Given the description of an element on the screen output the (x, y) to click on. 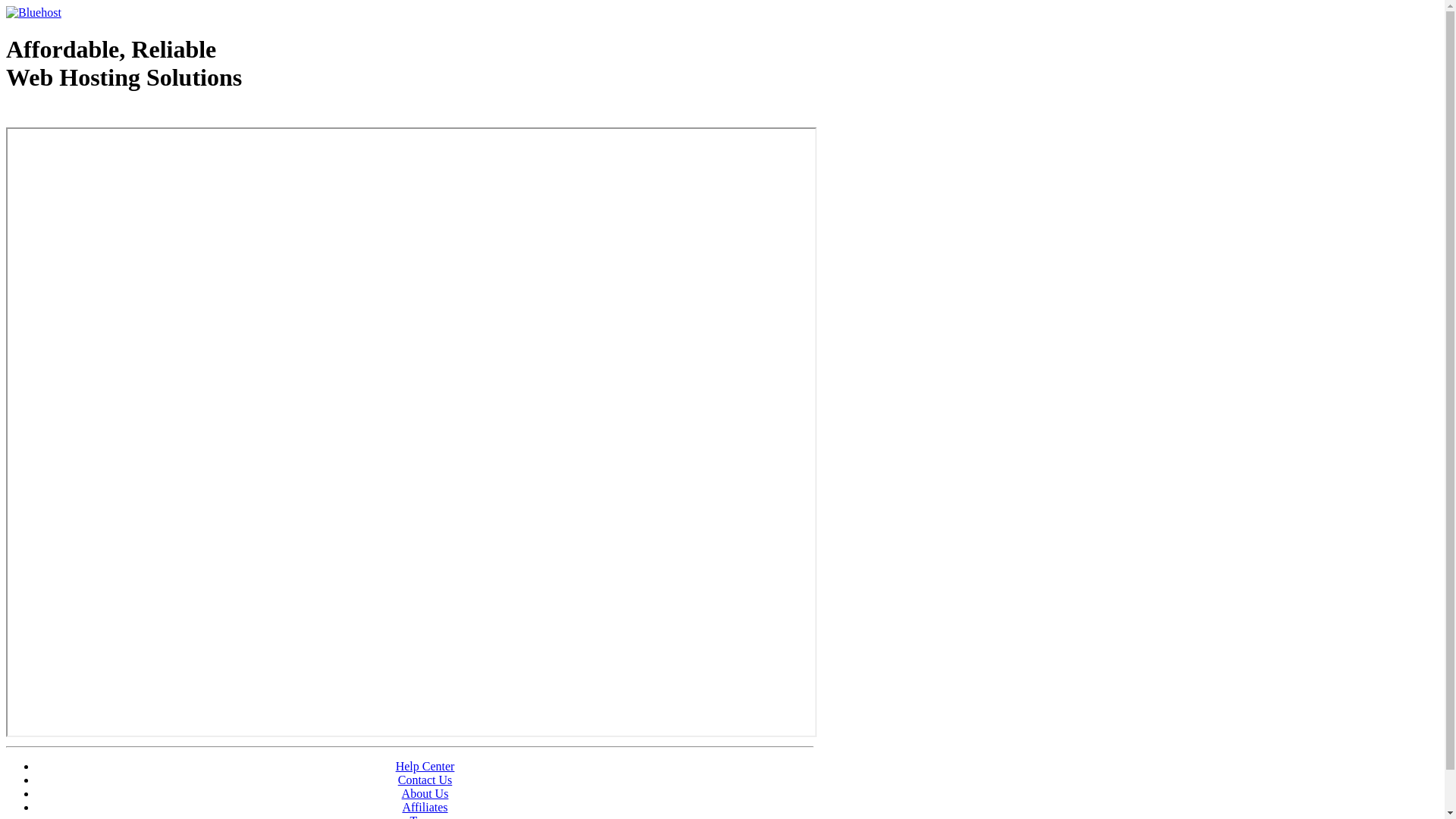
About Us Element type: text (424, 793)
Contact Us Element type: text (425, 779)
Web Hosting - courtesy of www.bluehost.com Element type: text (94, 115)
Affiliates Element type: text (424, 806)
Help Center Element type: text (425, 765)
